Given the description of an element on the screen output the (x, y) to click on. 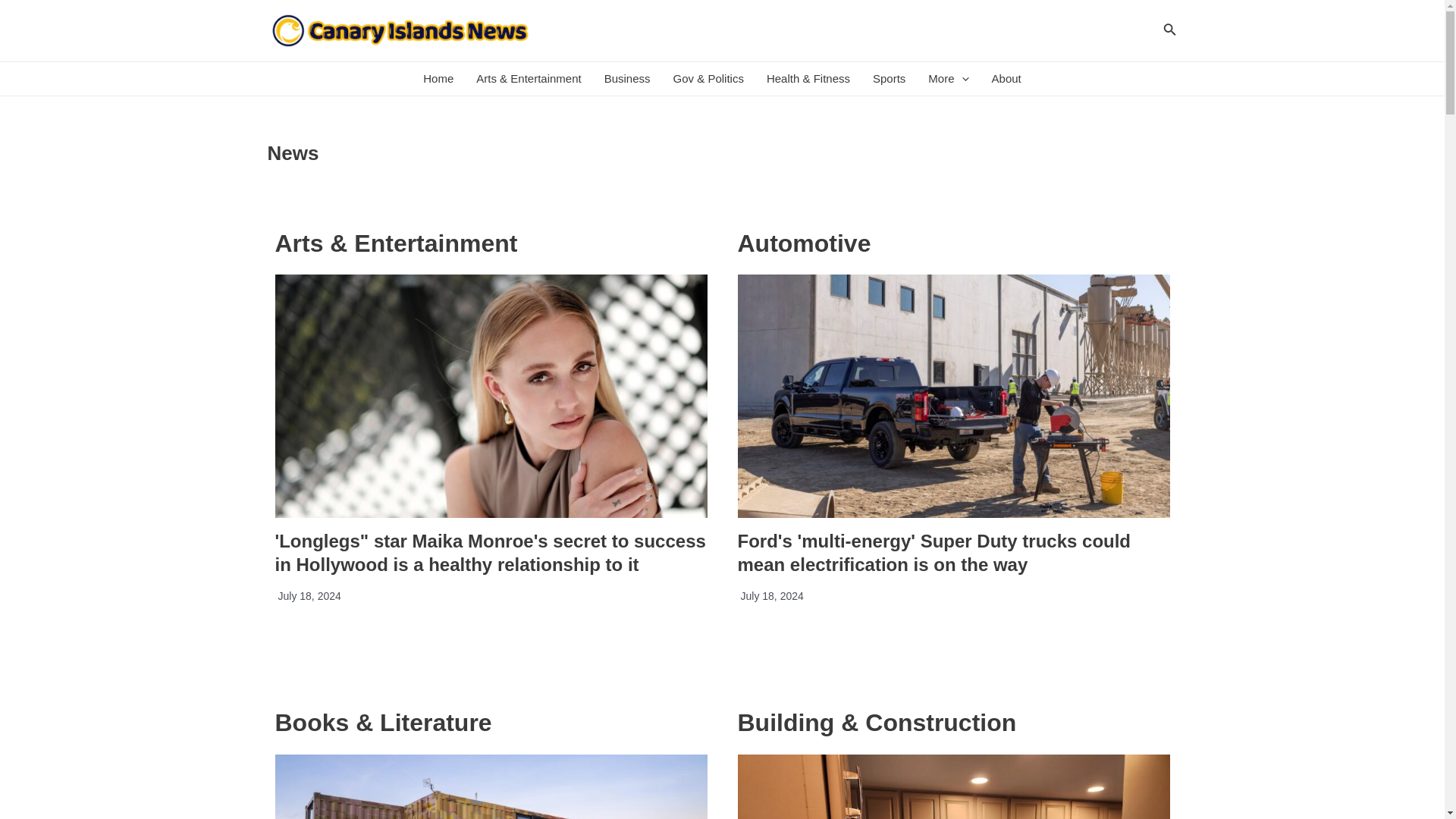
Sports (889, 78)
Home (438, 78)
About (1005, 78)
More (948, 78)
Business (627, 78)
